Given the description of an element on the screen output the (x, y) to click on. 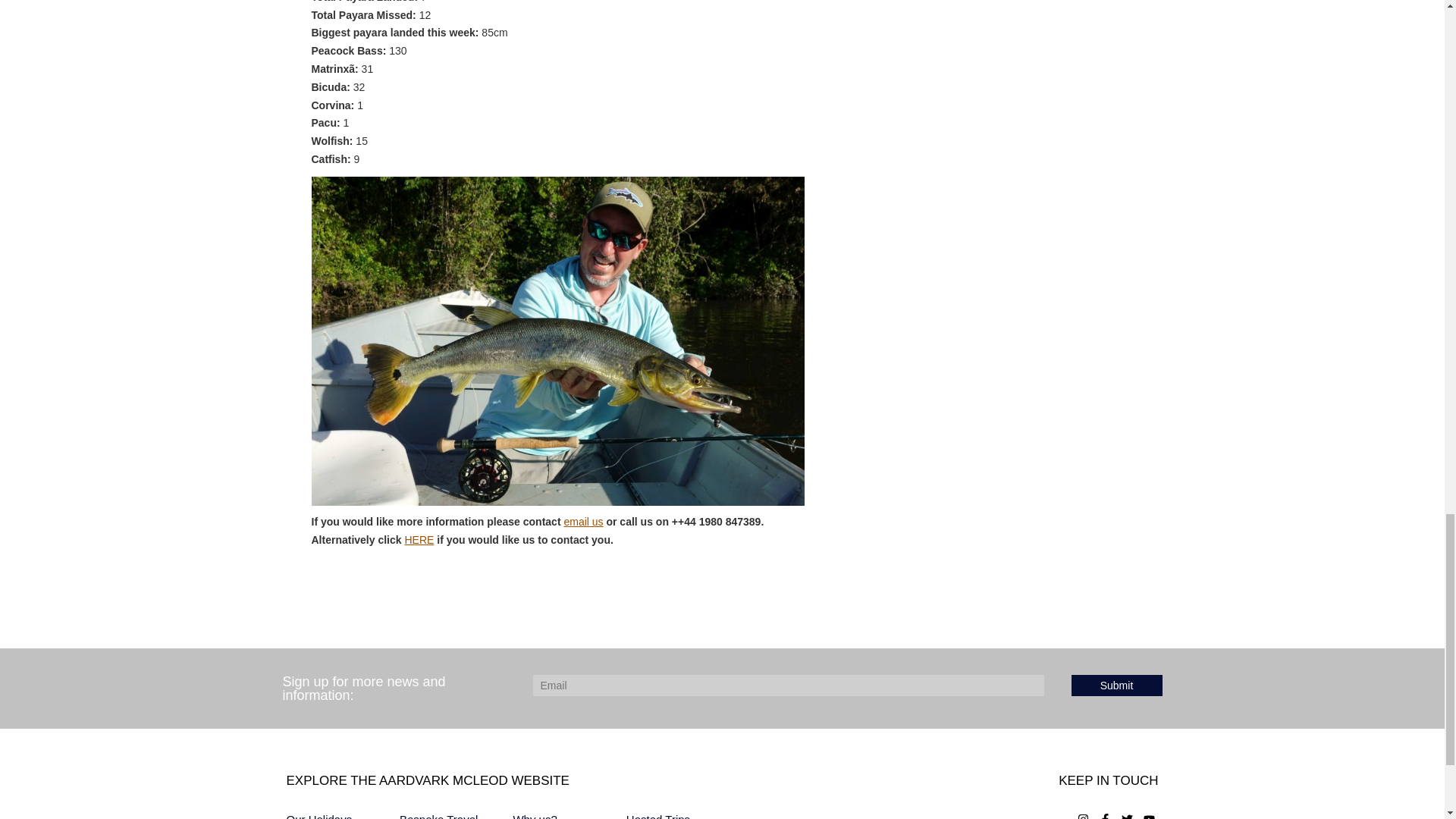
Submit (1115, 685)
